Given the description of an element on the screen output the (x, y) to click on. 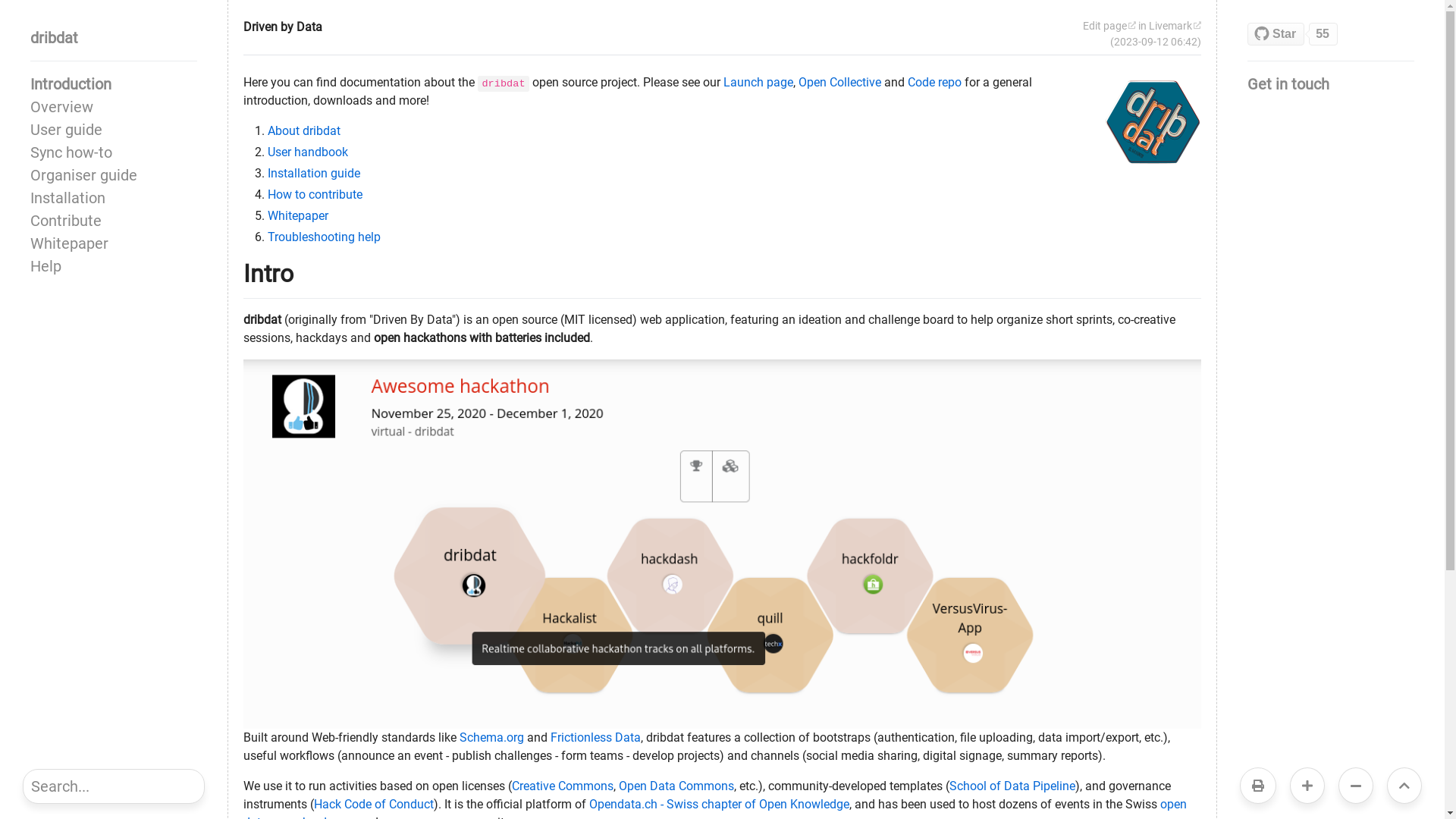
Launch page Element type: text (758, 82)
School of Data Pipeline Element type: text (1012, 785)
Troubleshooting help Element type: text (323, 236)
User handbook Element type: text (307, 151)
Overview Element type: text (113, 106)
Schema.org Element type: text (491, 737)
User guide Element type: text (113, 129)
Introduction Element type: text (113, 83)
GitHub Element type: hover (1307, 33)
Increase readability Element type: hover (1306, 785)
Creative Commons Element type: text (562, 785)
Decrease readability Element type: hover (1355, 785)
Opendata.ch - Swiss chapter of Open Knowledge Element type: text (719, 804)
About dribdat Element type: text (303, 130)
Whitepaper Element type: text (113, 243)
Organiser guide Element type: text (113, 174)
Edit page Element type: text (1108, 25)
Open Collective Element type: text (839, 82)
Installation Element type: text (113, 197)
Back to top Element type: hover (1403, 785)
Contribute Element type: text (113, 220)
Livemark Element type: text (1174, 25)
Print Element type: hover (1257, 785)
Installation guide Element type: text (313, 173)
Whitepaper Element type: text (297, 215)
Open Data Commons Element type: text (676, 785)
Frictionless Data Element type: text (595, 737)
How to contribute Element type: text (314, 194)
dribdat Element type: text (113, 37)
Get in touch Element type: text (1330, 83)
Hack Code of Conduct Element type: text (373, 804)
Sync how-to Element type: text (113, 152)
Help Element type: text (113, 265)
Code repo Element type: text (934, 82)
